Given the description of an element on the screen output the (x, y) to click on. 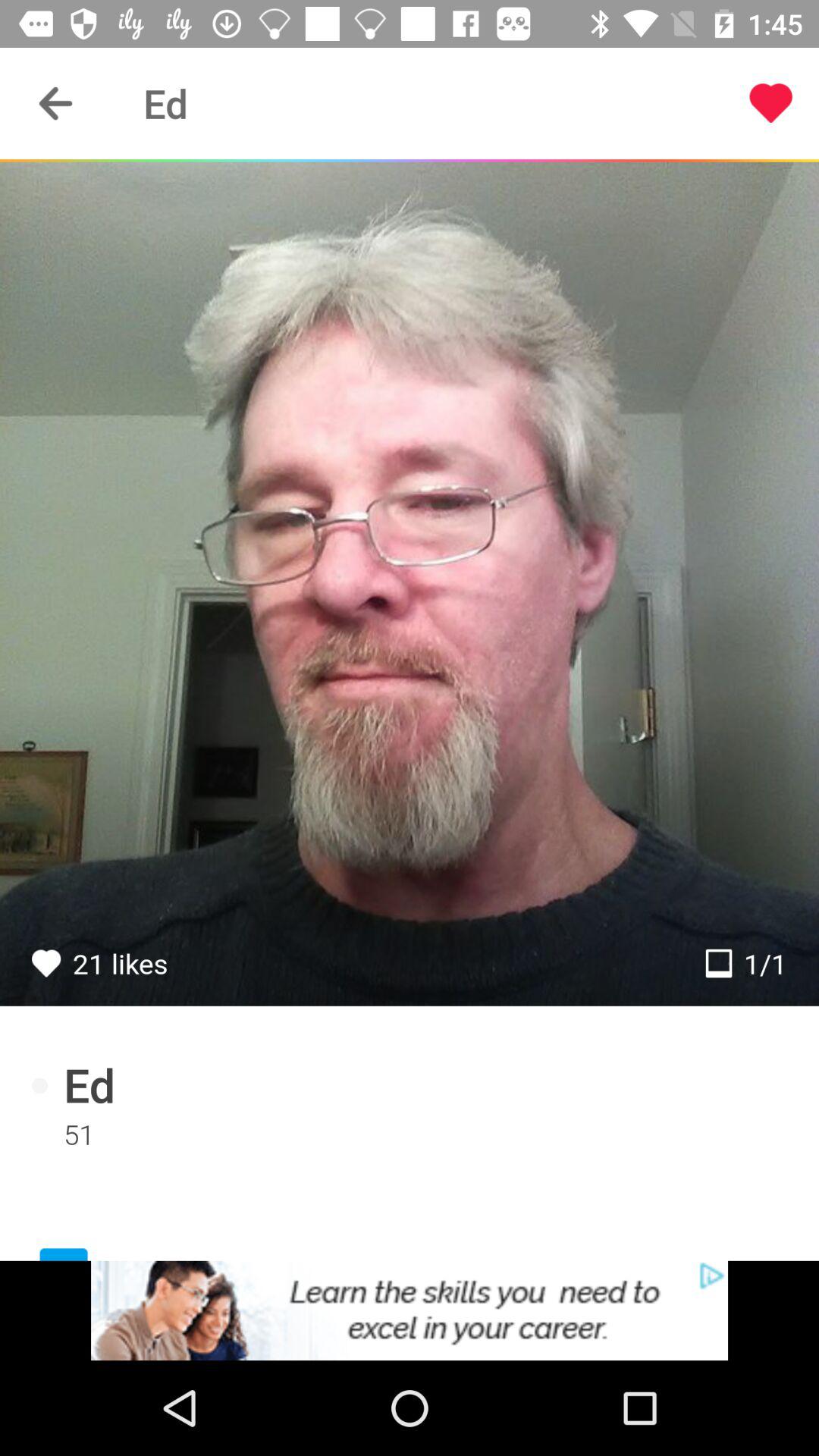
go back to previous page (55, 103)
